Given the description of an element on the screen output the (x, y) to click on. 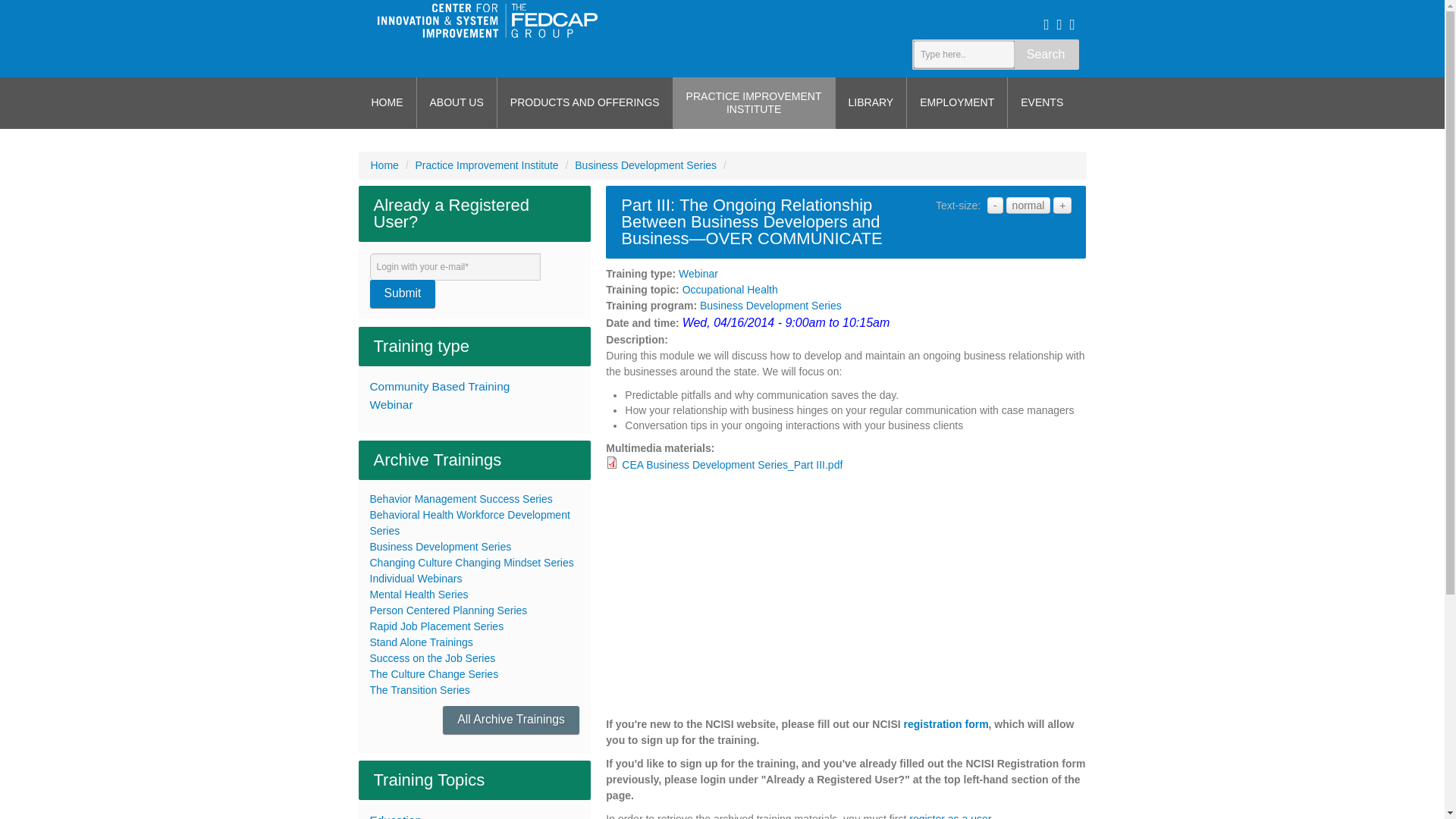
ABOUT US (456, 101)
Behavior Management Success Series (461, 499)
The Transition Series (419, 689)
Home (383, 164)
Mental Health Series (418, 594)
Success on the Job Series (432, 657)
Business Development Series (440, 546)
Person Centered Planning Series (448, 610)
All Archive Trainings (510, 719)
Search (1045, 53)
Rapid Job Placement Series (436, 625)
EVENTS (1041, 101)
Practice Improvement Institute (486, 164)
Webinar (697, 273)
EMPLOYMENT (957, 101)
